Given the description of an element on the screen output the (x, y) to click on. 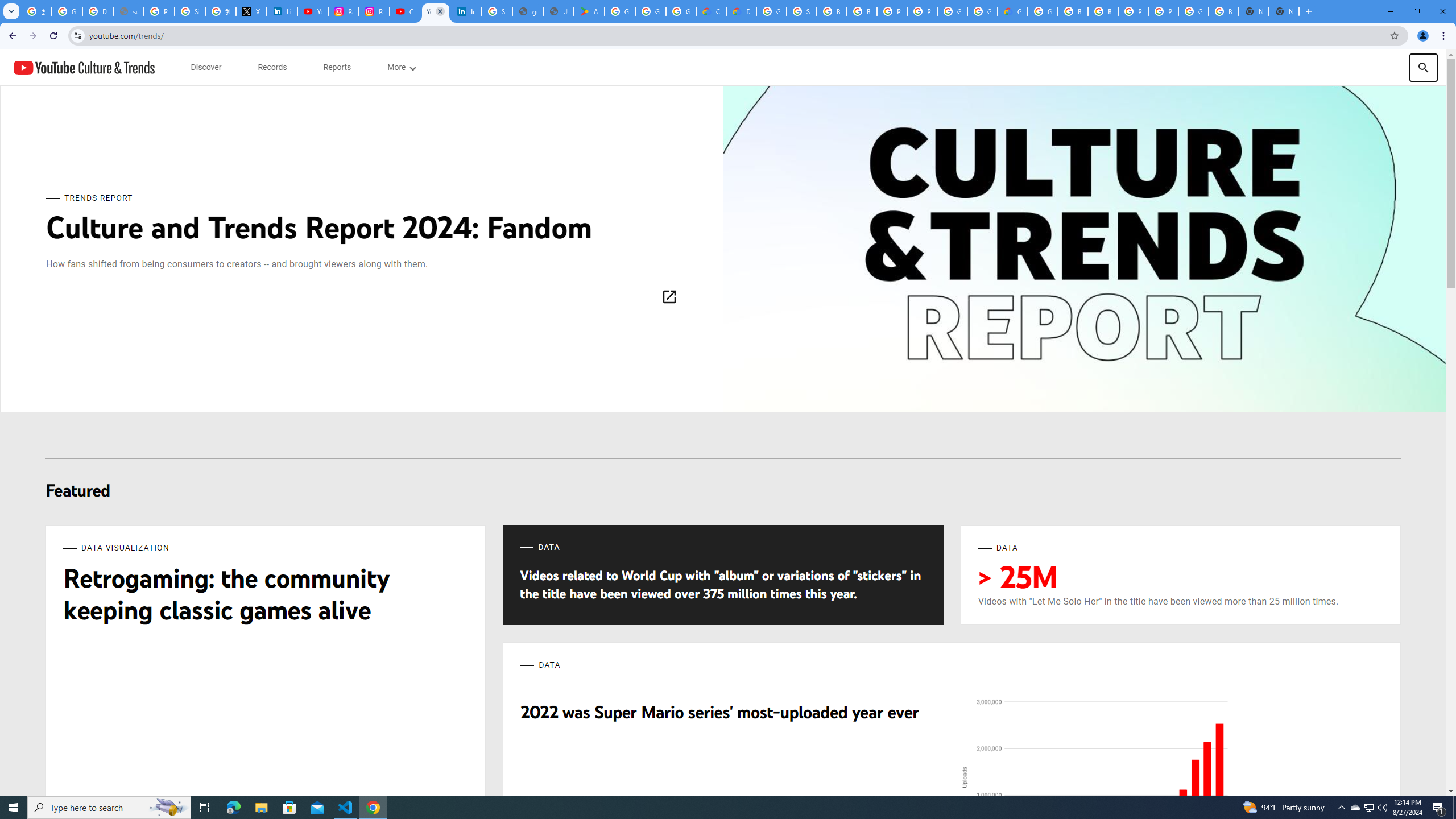
google_privacy_policy_en.pdf (527, 11)
Search (1423, 67)
Google Workspace - Specific Terms (681, 11)
Sign in - Google Accounts (189, 11)
Browse Chrome as a guest - Computer - Google Chrome Help (861, 11)
Address and search bar (735, 35)
New Tab (1283, 11)
Privacy Help Center - Policies Help (158, 11)
Sign in - Google Accounts (496, 11)
Google Cloud Platform (951, 11)
